Given the description of an element on the screen output the (x, y) to click on. 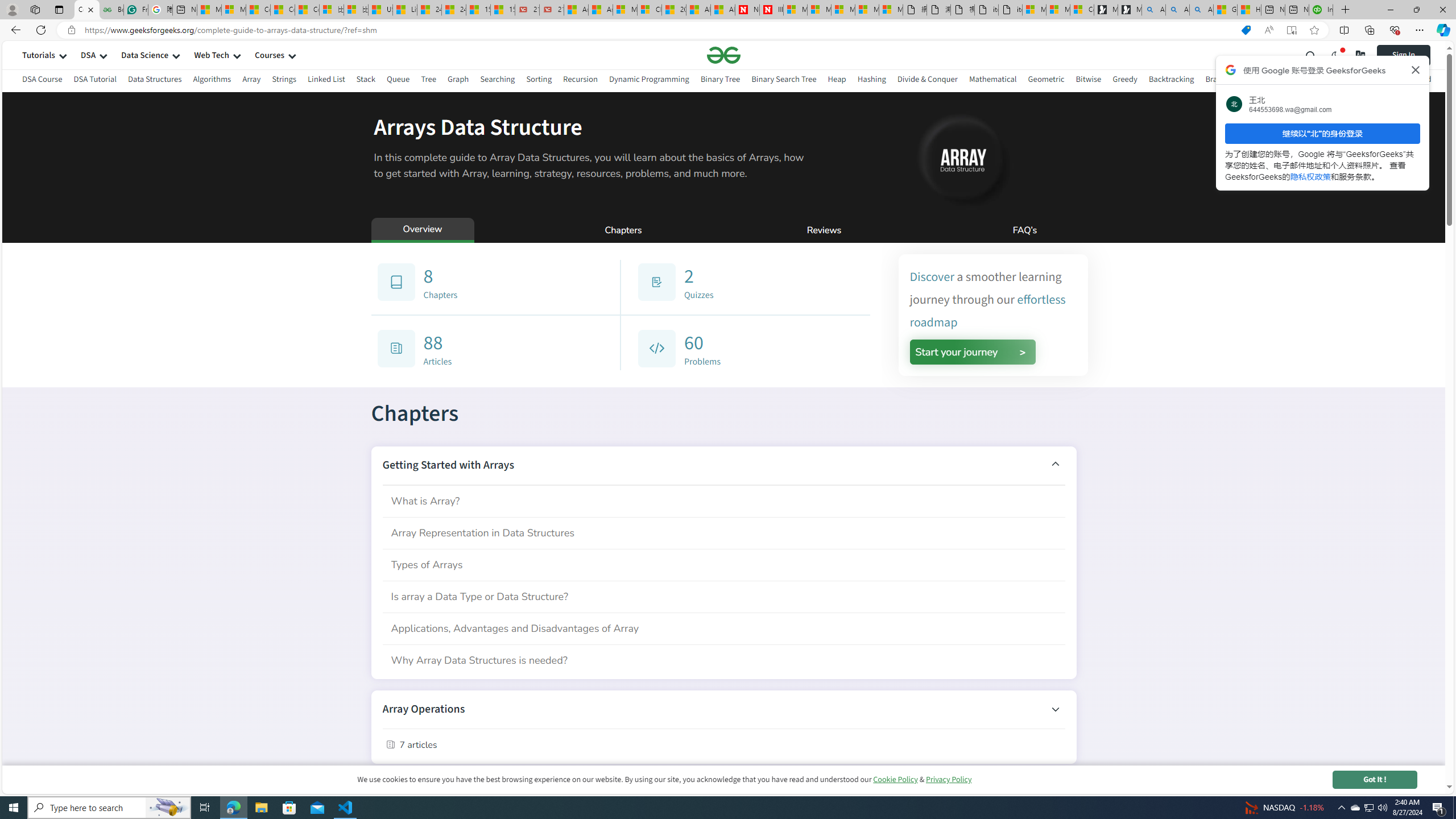
Dynamic Programming (648, 79)
Mathematical (992, 80)
Intuit QuickBooks Online - Quickbooks (1321, 9)
Sign In (1403, 55)
Lightbox (723, 417)
Divide & Conquer (927, 80)
Got It ! (1374, 779)
Illness news & latest pictures from Newsweek.com (770, 9)
